Given the description of an element on the screen output the (x, y) to click on. 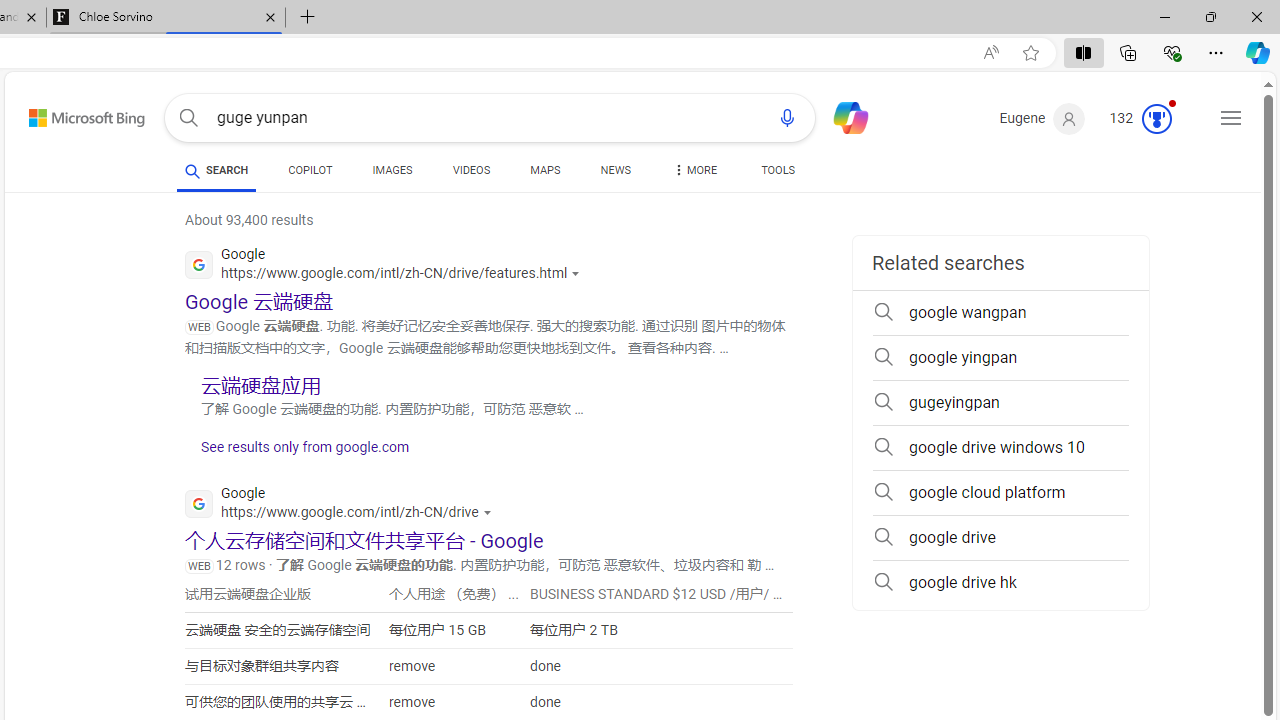
Read aloud this page (Ctrl+Shift+U) (991, 53)
Split screen (1083, 52)
See results only from google.com (297, 452)
NEWS (614, 170)
IMAGES (392, 173)
Eugene (1041, 119)
Copilot (Ctrl+Shift+.) (1258, 52)
VIDEOS (471, 170)
Class: outer-circle-animation (1156, 118)
google drive windows 10 (1000, 448)
NEWS (614, 173)
IMAGES (392, 170)
Search button (188, 117)
Chat (842, 116)
